Given the description of an element on the screen output the (x, y) to click on. 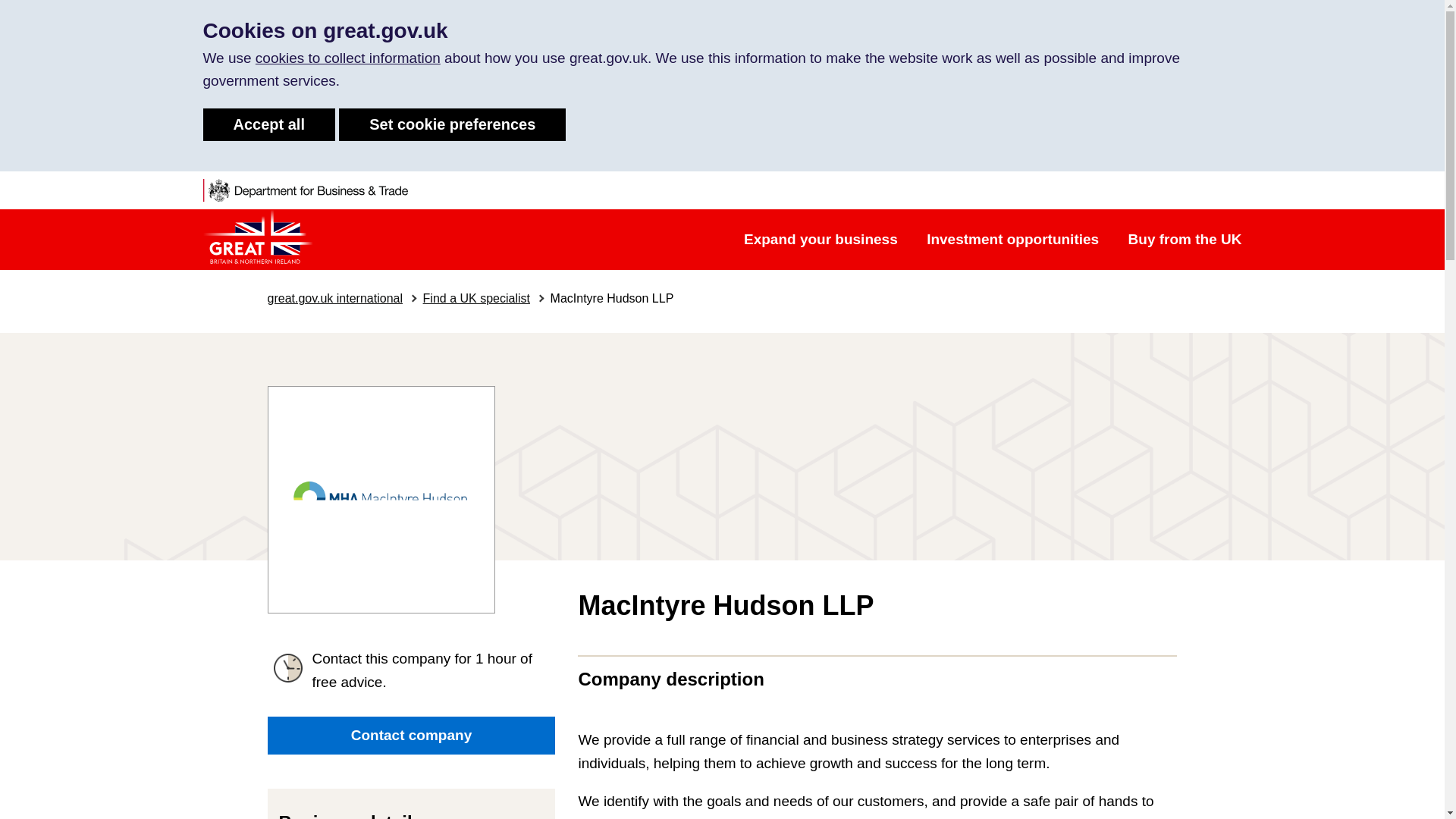
Find a UK specialist (476, 297)
Accept all (268, 124)
Contact company (410, 735)
cookies to collect information (348, 57)
Buy from the UK (1185, 239)
Investment opportunities (1013, 239)
Set cookie preferences (452, 124)
great.gov.uk international (333, 297)
Expand your business (820, 239)
